Given the description of an element on the screen output the (x, y) to click on. 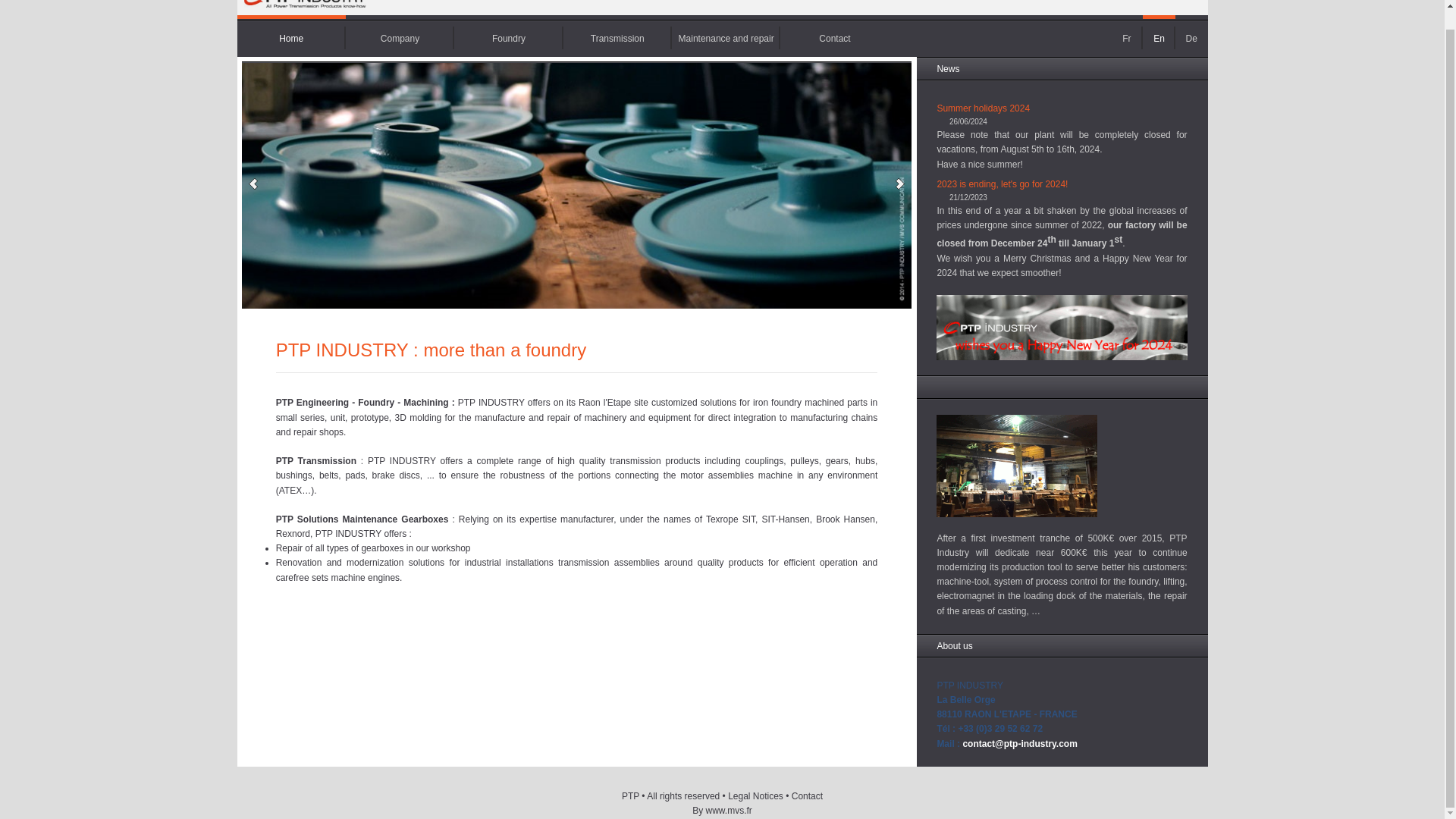
Home (303, 11)
Company (400, 35)
Contact (834, 35)
Company (400, 35)
Foundry (508, 35)
Contact (834, 35)
MVS.fr (727, 810)
Maintenance and repair (725, 35)
Contact (807, 796)
Maintenance and repair (725, 35)
